Given the description of an element on the screen output the (x, y) to click on. 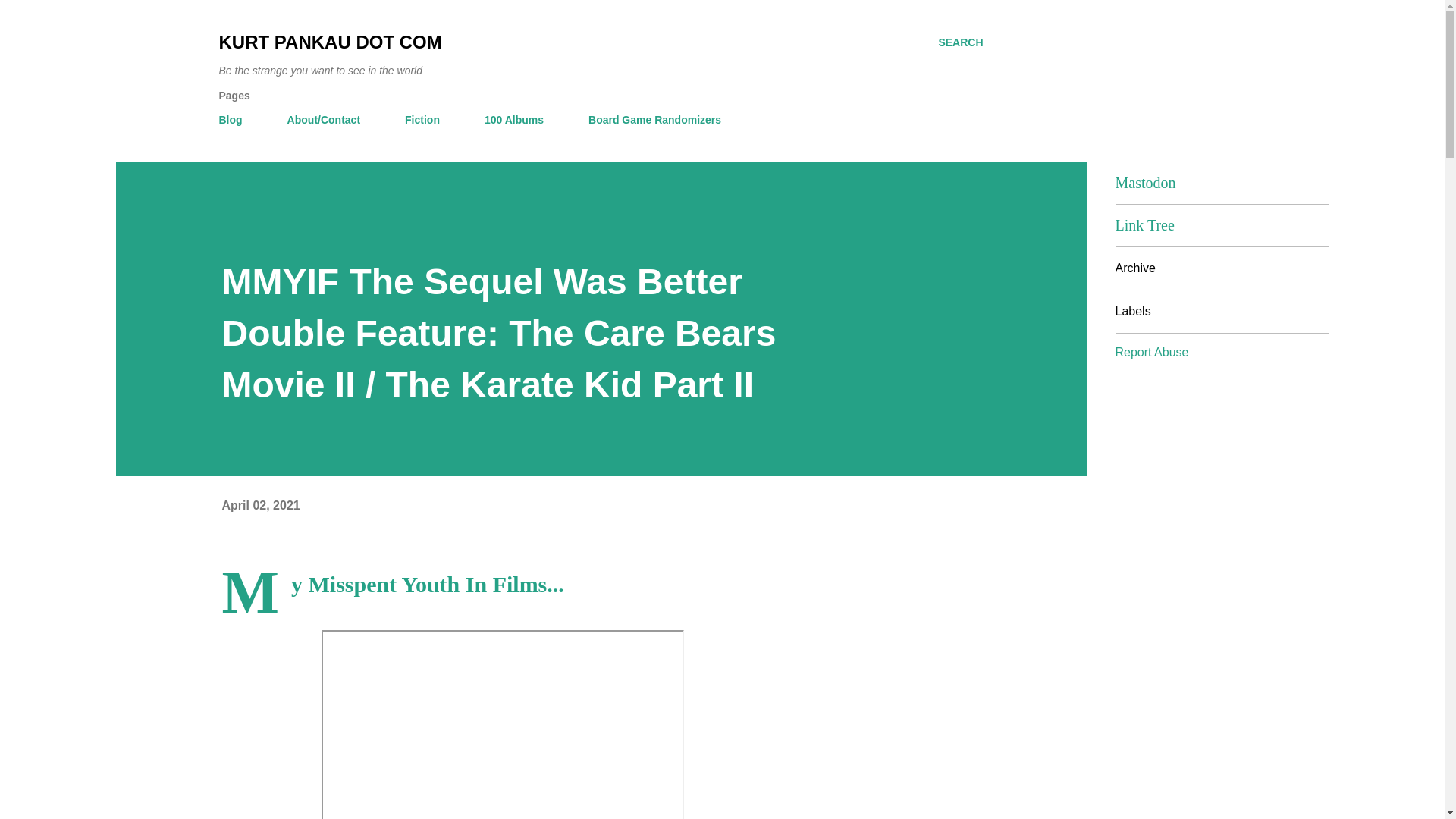
100 Albums (514, 119)
Fiction (422, 119)
April 02, 2021 (260, 504)
KURT PANKAU DOT COM (329, 41)
Link Tree (1144, 225)
Board Game Randomizers (654, 119)
permanent link (260, 504)
SEARCH (959, 42)
Mastodon (1144, 182)
Blog (234, 119)
